Given the description of an element on the screen output the (x, y) to click on. 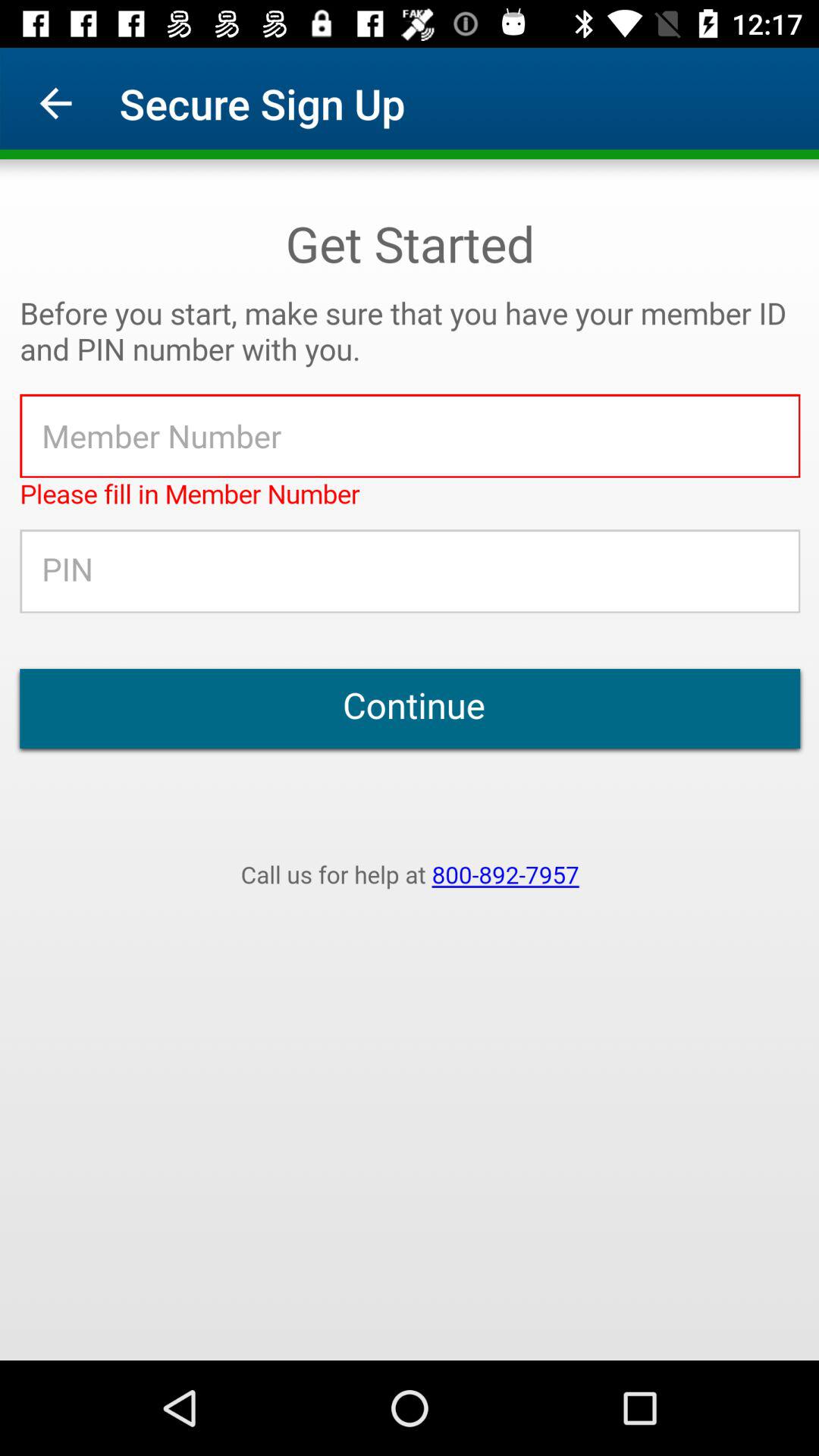
click item at the center (409, 759)
